Given the description of an element on the screen output the (x, y) to click on. 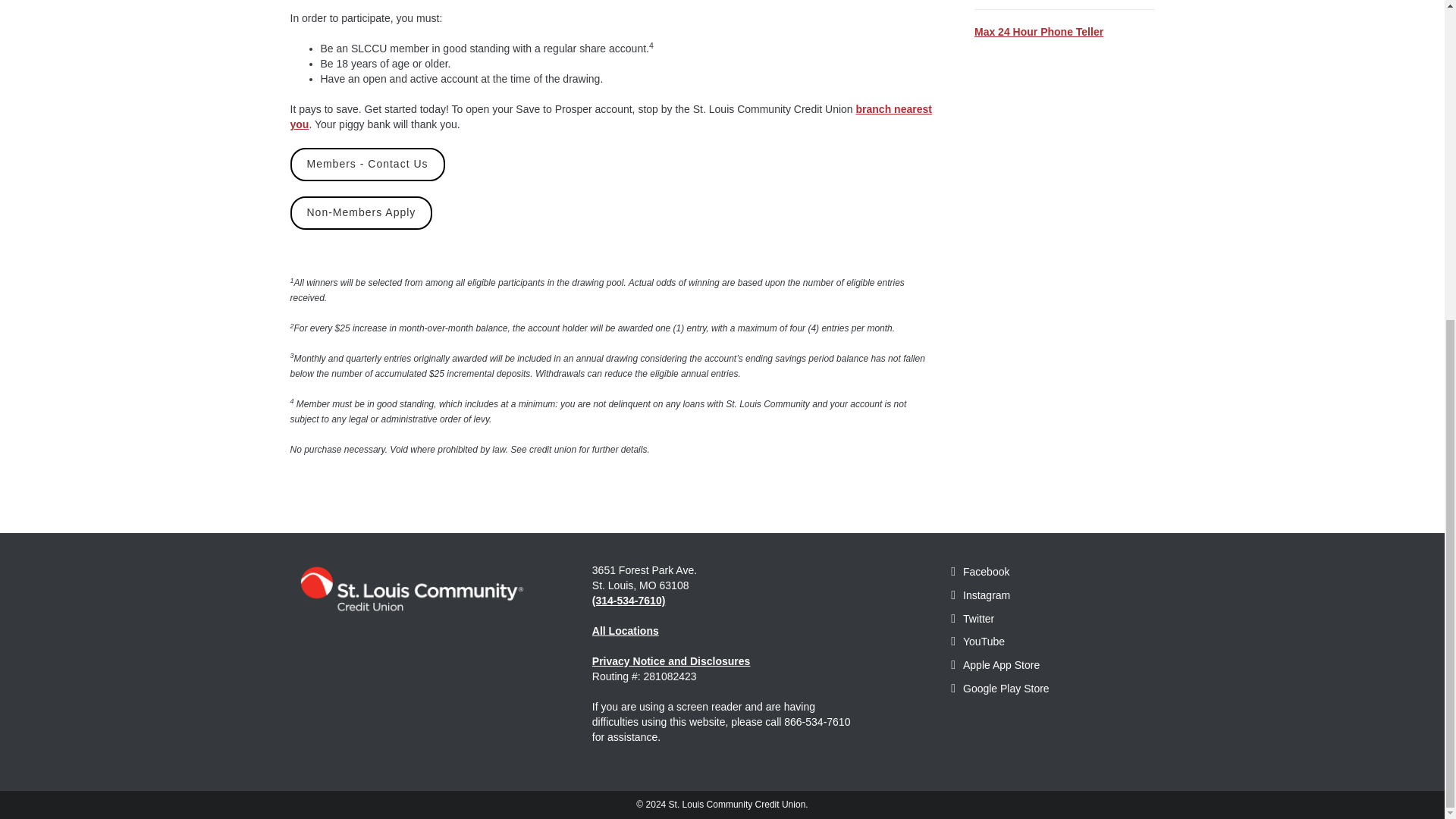
Call Us (628, 600)
Instagram (980, 594)
Twitter (972, 618)
Facebook (979, 571)
All Locations (625, 630)
Disclosures (671, 661)
Apple App Store (994, 664)
St. Louis Community Credit Union, St. Louis, MO Footer Link (410, 587)
YouTube (977, 641)
Google Play Store (999, 688)
